Given the description of an element on the screen output the (x, y) to click on. 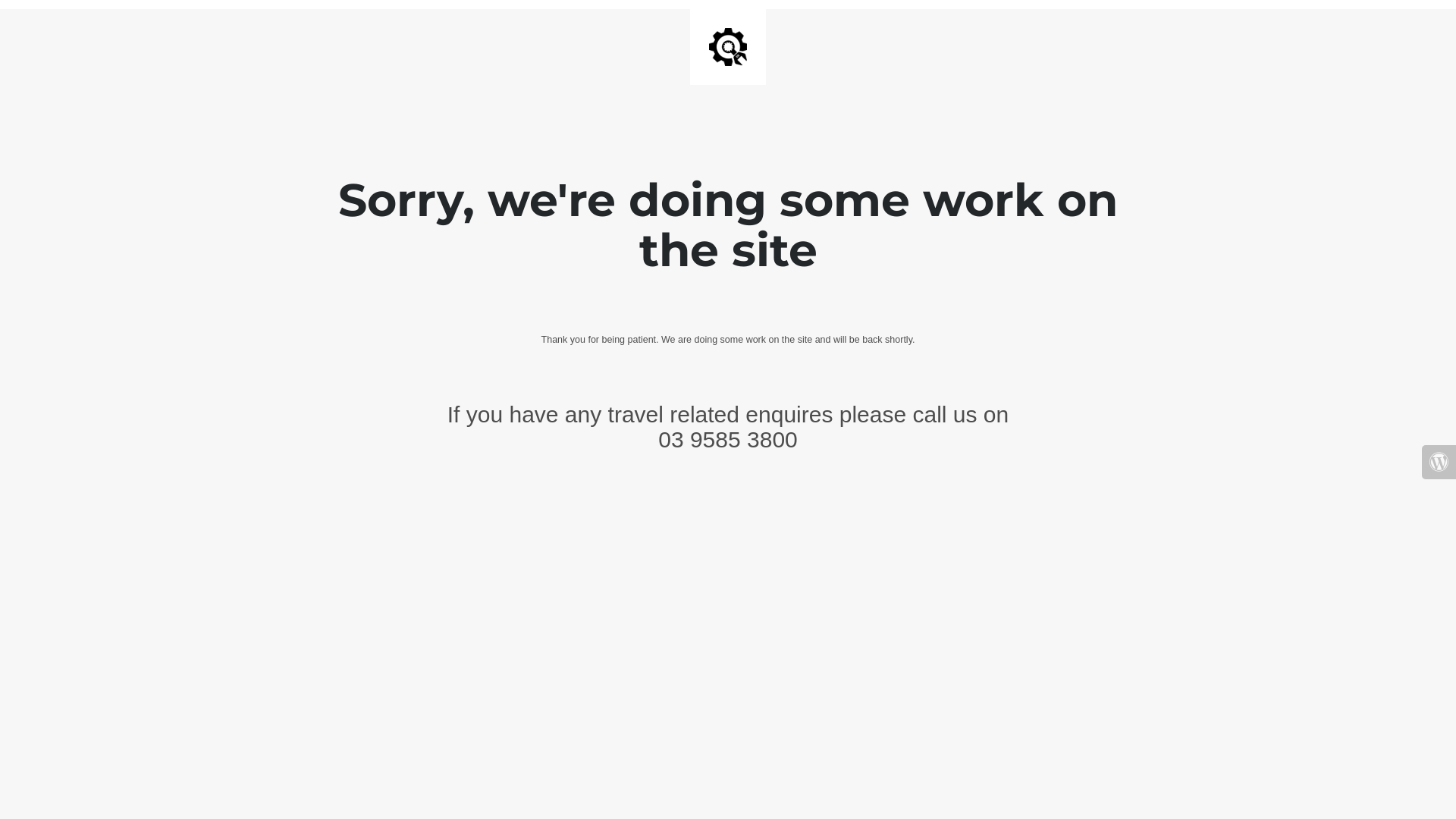
Site is Under Construction Element type: hover (727, 46)
